Given the description of an element on the screen output the (x, y) to click on. 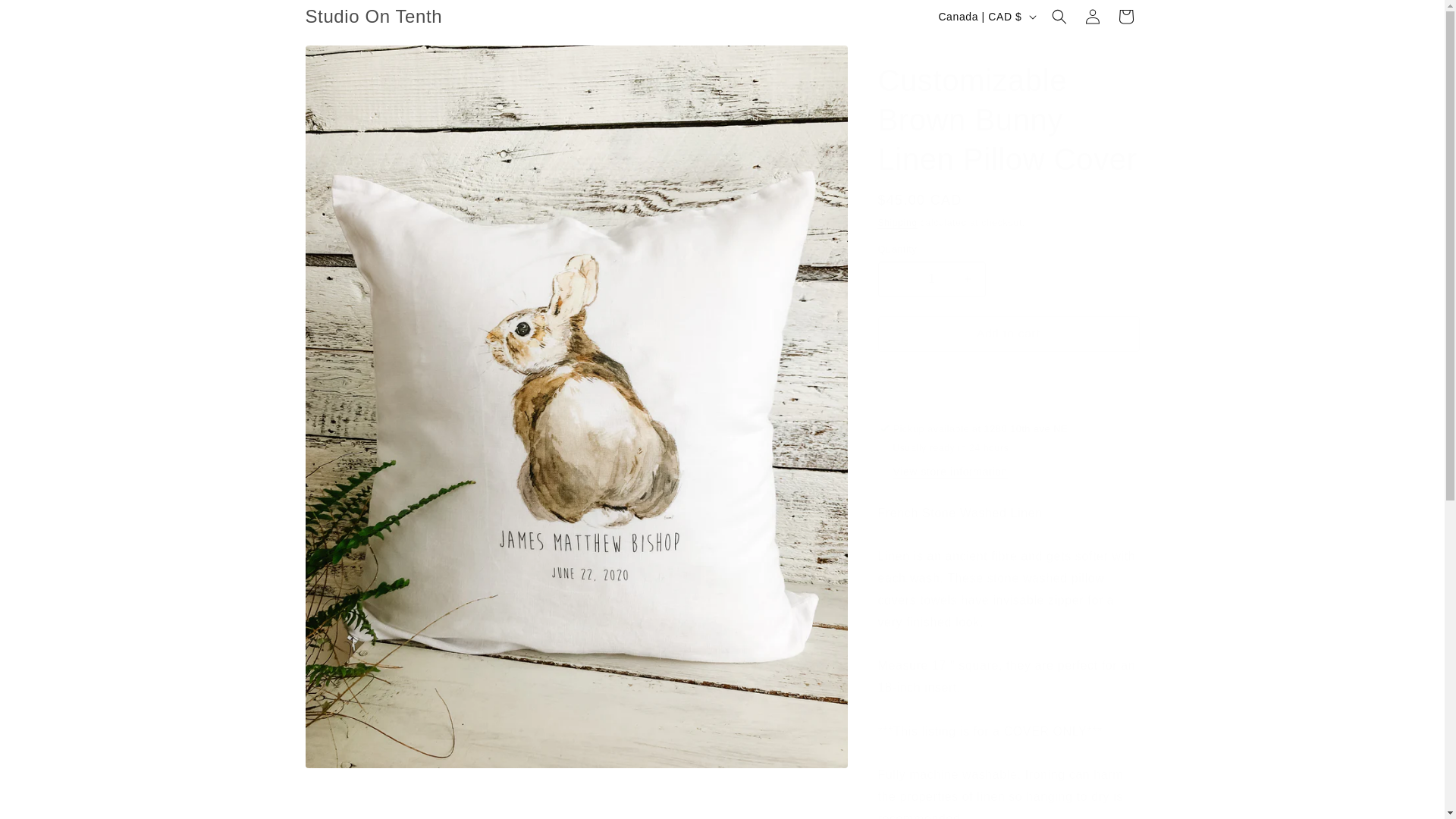
Log in (1091, 16)
Skip to content (45, 17)
Add to cart (1008, 334)
Studio On Tenth (373, 16)
Skip to product information (350, 62)
1 (931, 279)
View store information (950, 472)
Cart (1124, 16)
